Given the description of an element on the screen output the (x, y) to click on. 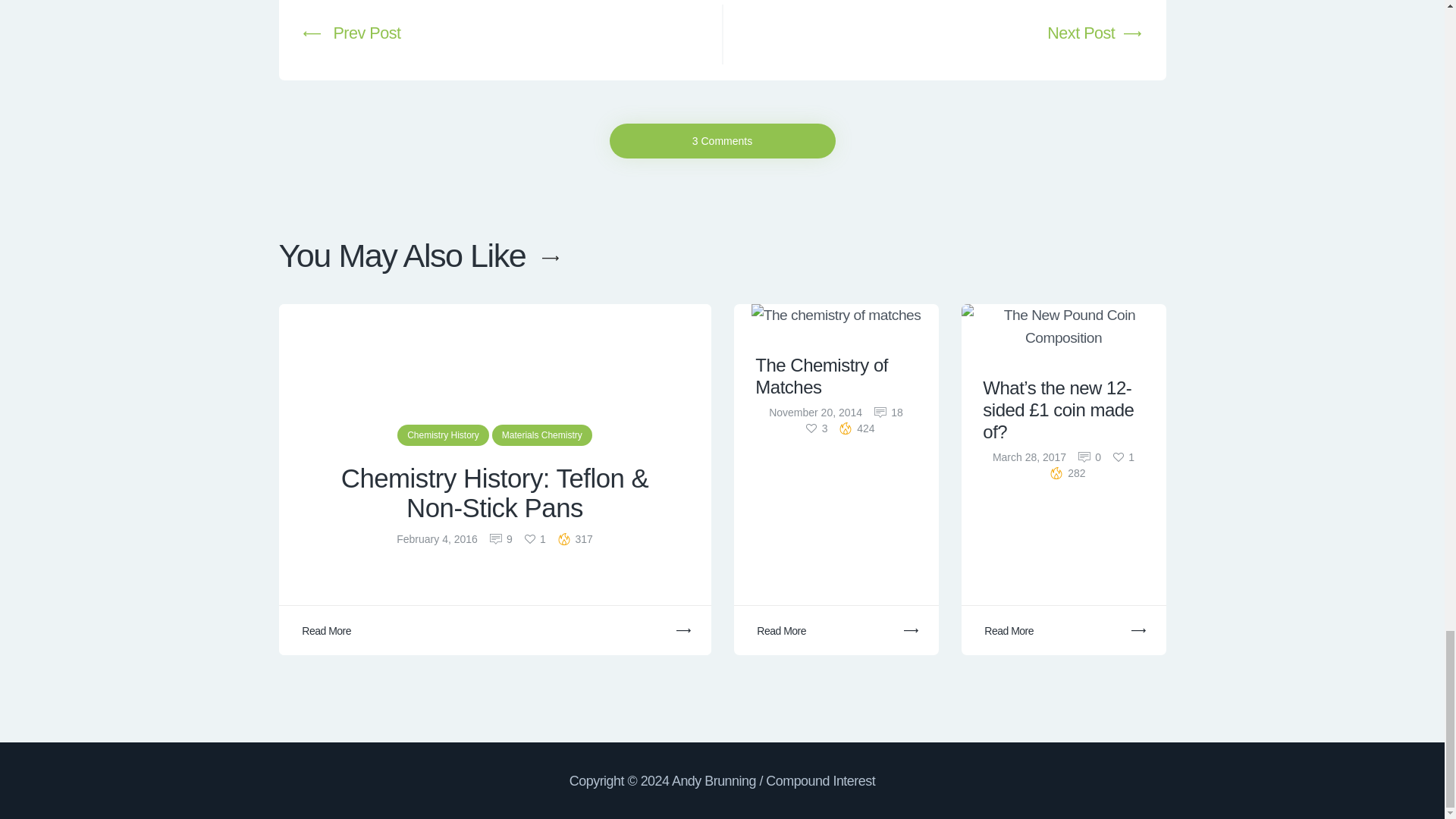
Like (535, 539)
Like (816, 428)
Like (1123, 457)
